Given the description of an element on the screen output the (x, y) to click on. 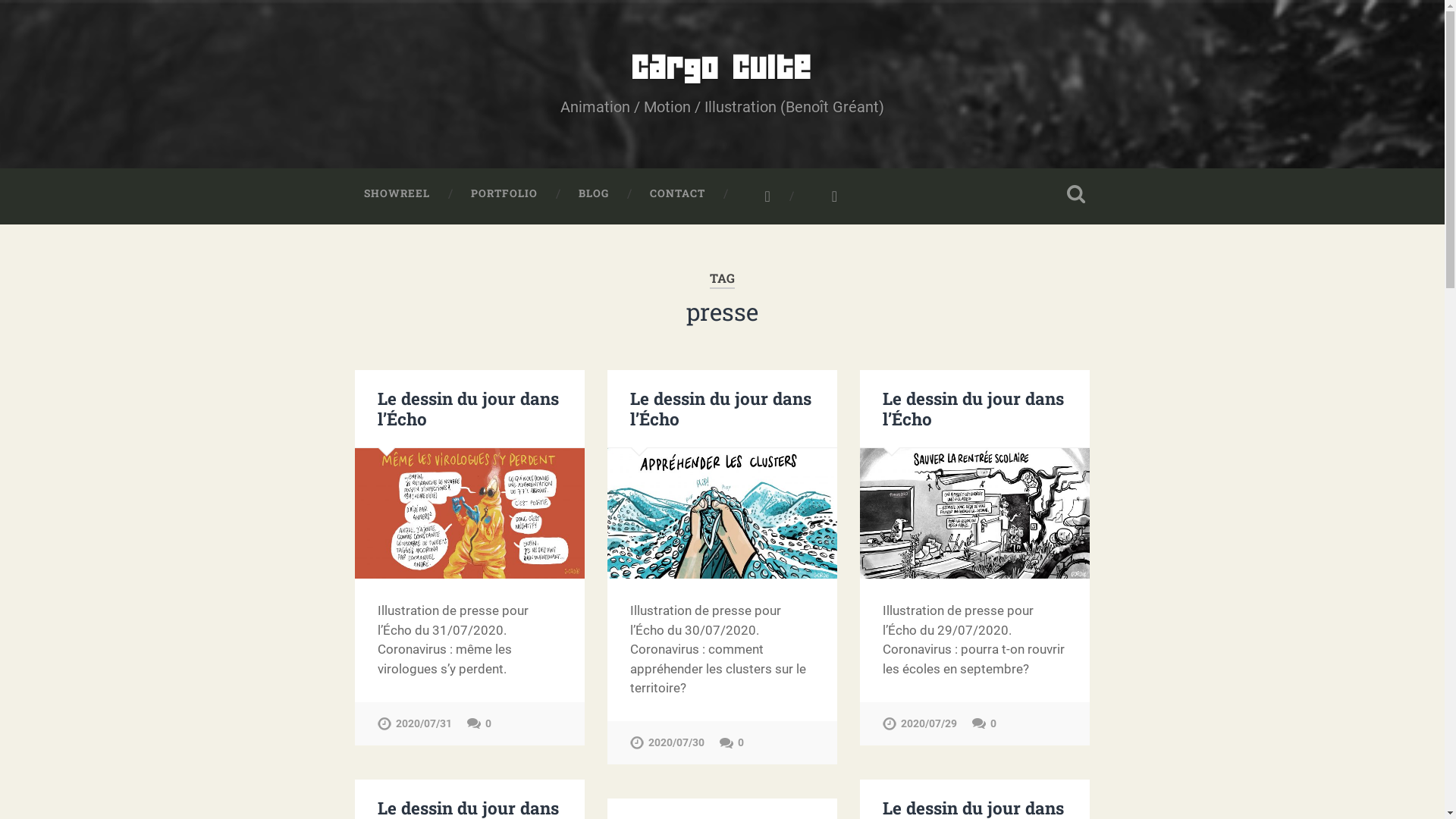
SHOWREEL Element type: text (395, 193)
0 Element type: text (479, 723)
BLOG Element type: text (593, 193)
0 Element type: text (731, 742)
CONTACT Element type: text (677, 193)
CARGO CULTE SUR INSTAGRAM Element type: text (757, 196)
0 Element type: text (984, 723)
2020/07/29 Element type: text (919, 723)
PORTFOLIO Element type: text (504, 193)
2020/07/30 Element type: text (667, 742)
Cargo Culte Element type: text (722, 67)
2020/07/31 Element type: text (414, 723)
